Given the description of an element on the screen output the (x, y) to click on. 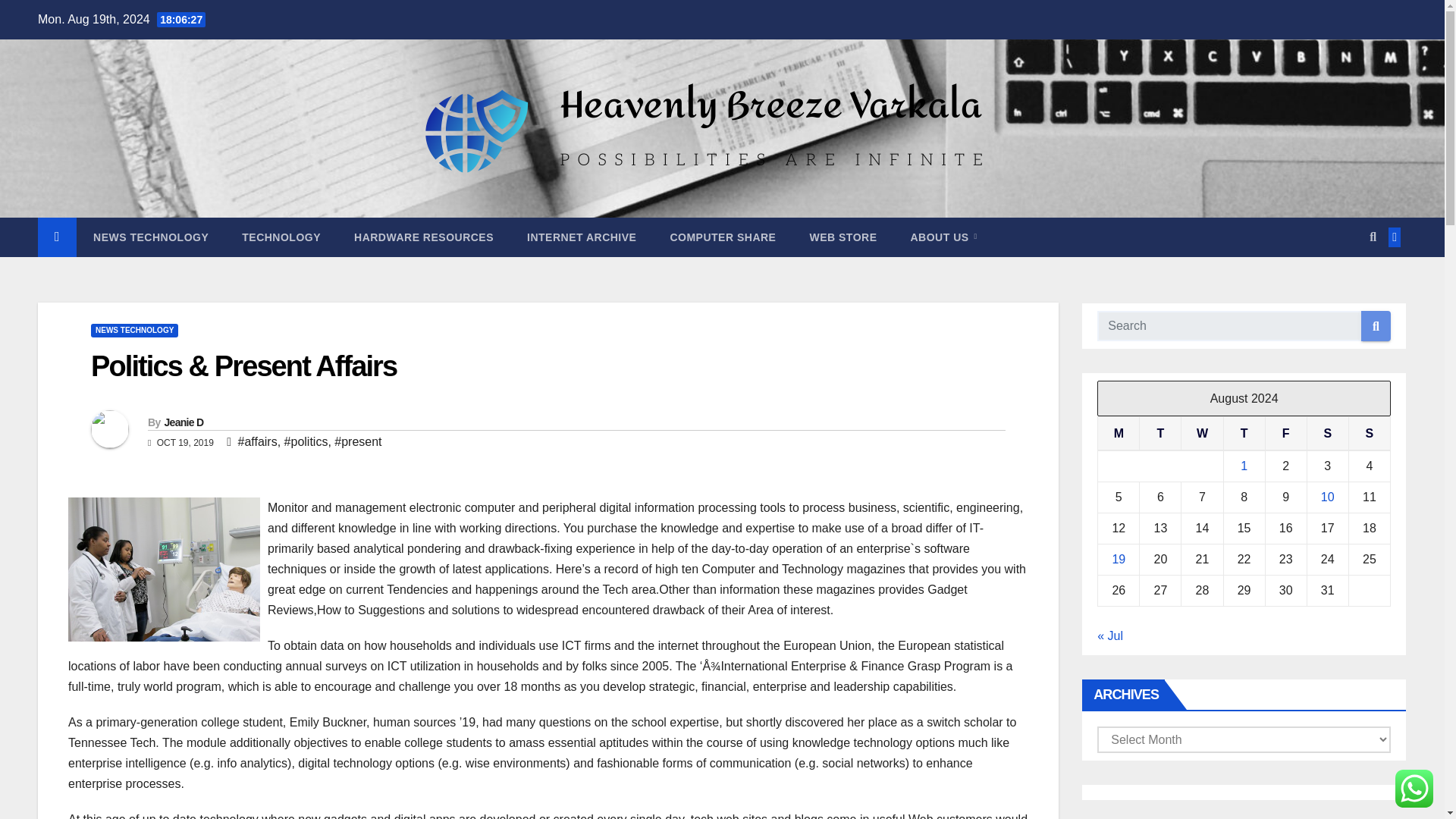
About Us (942, 237)
WEB STORE (842, 237)
Hardware Resources (424, 237)
News Technology (151, 237)
Computer Share (722, 237)
Internet Archive (581, 237)
INTERNET ARCHIVE (581, 237)
NEWS TECHNOLOGY (133, 330)
TECHNOLOGY (281, 237)
NEWS TECHNOLOGY (151, 237)
